Given the description of an element on the screen output the (x, y) to click on. 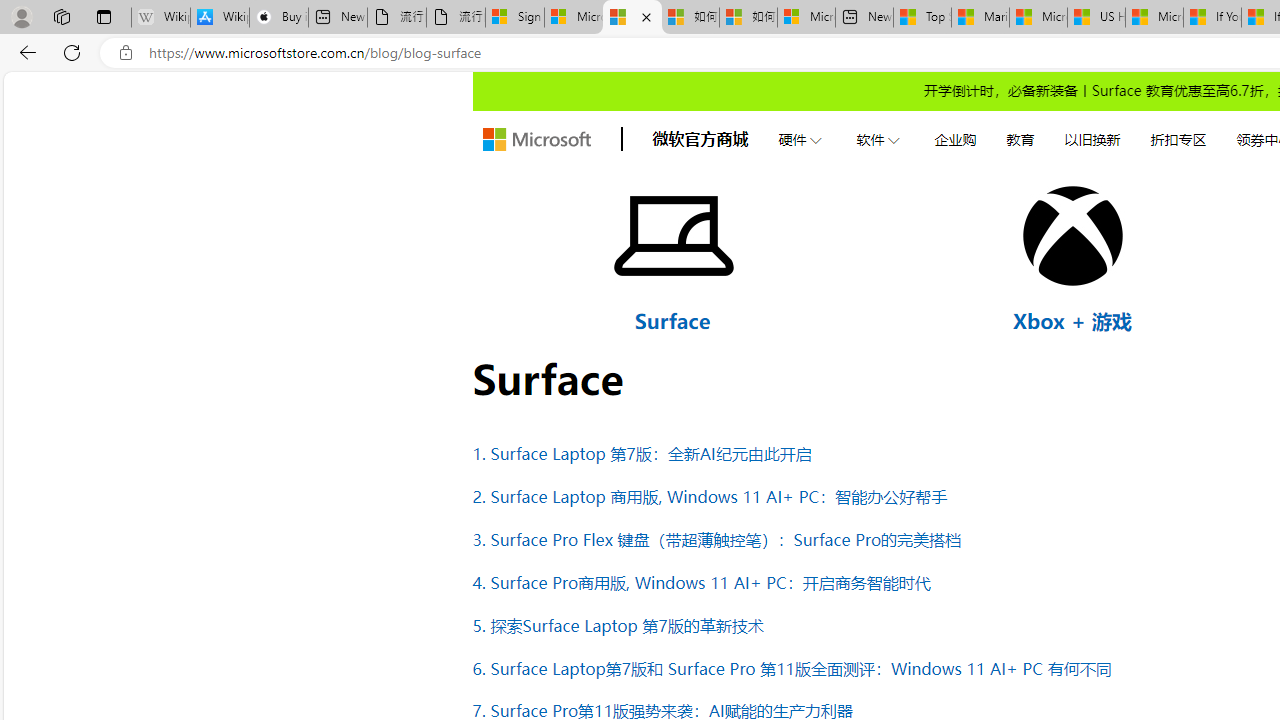
Marine life - MSN (980, 17)
